Given the description of an element on the screen output the (x, y) to click on. 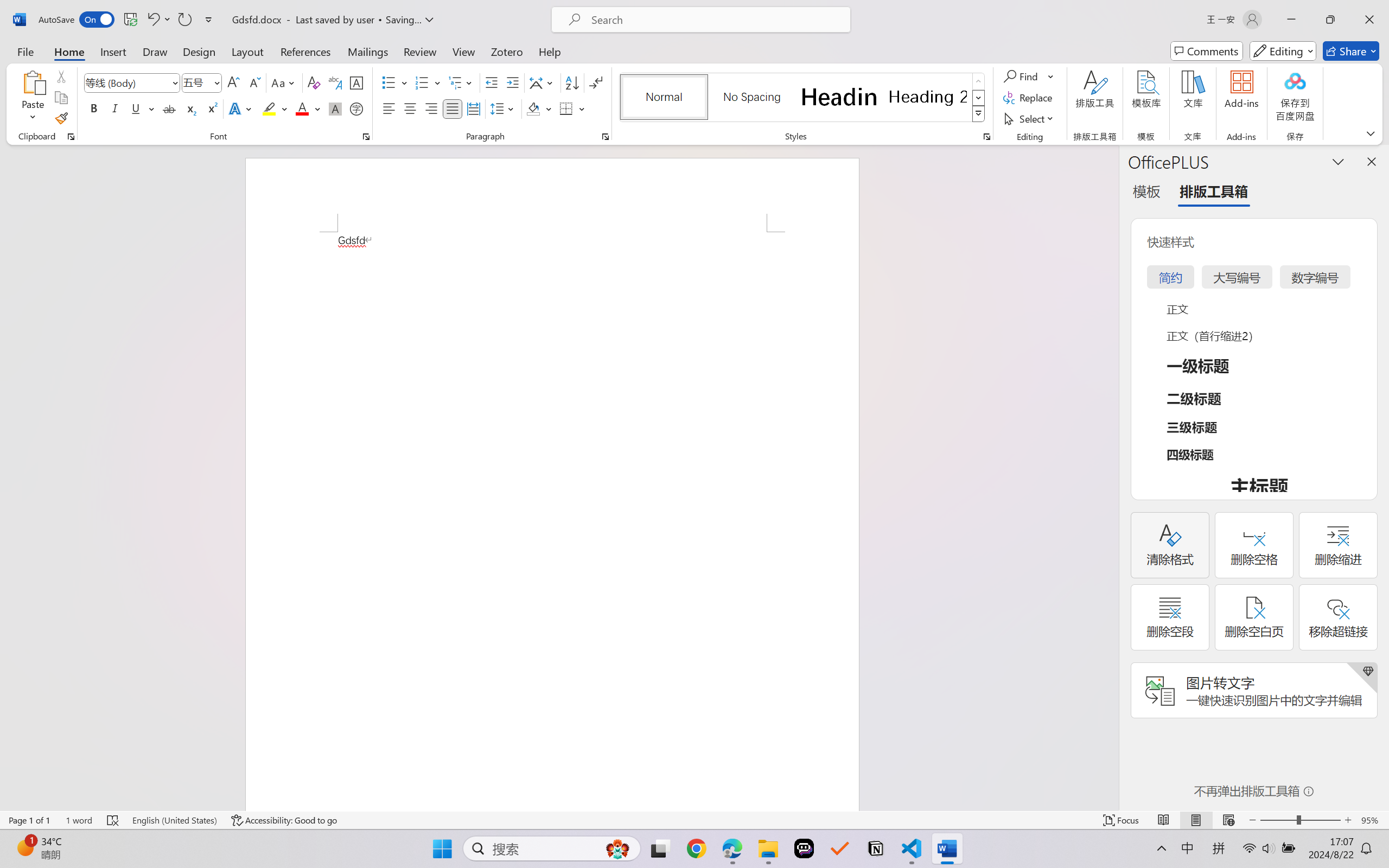
Undo ClearFormattingInner (152, 19)
